Given the description of an element on the screen output the (x, y) to click on. 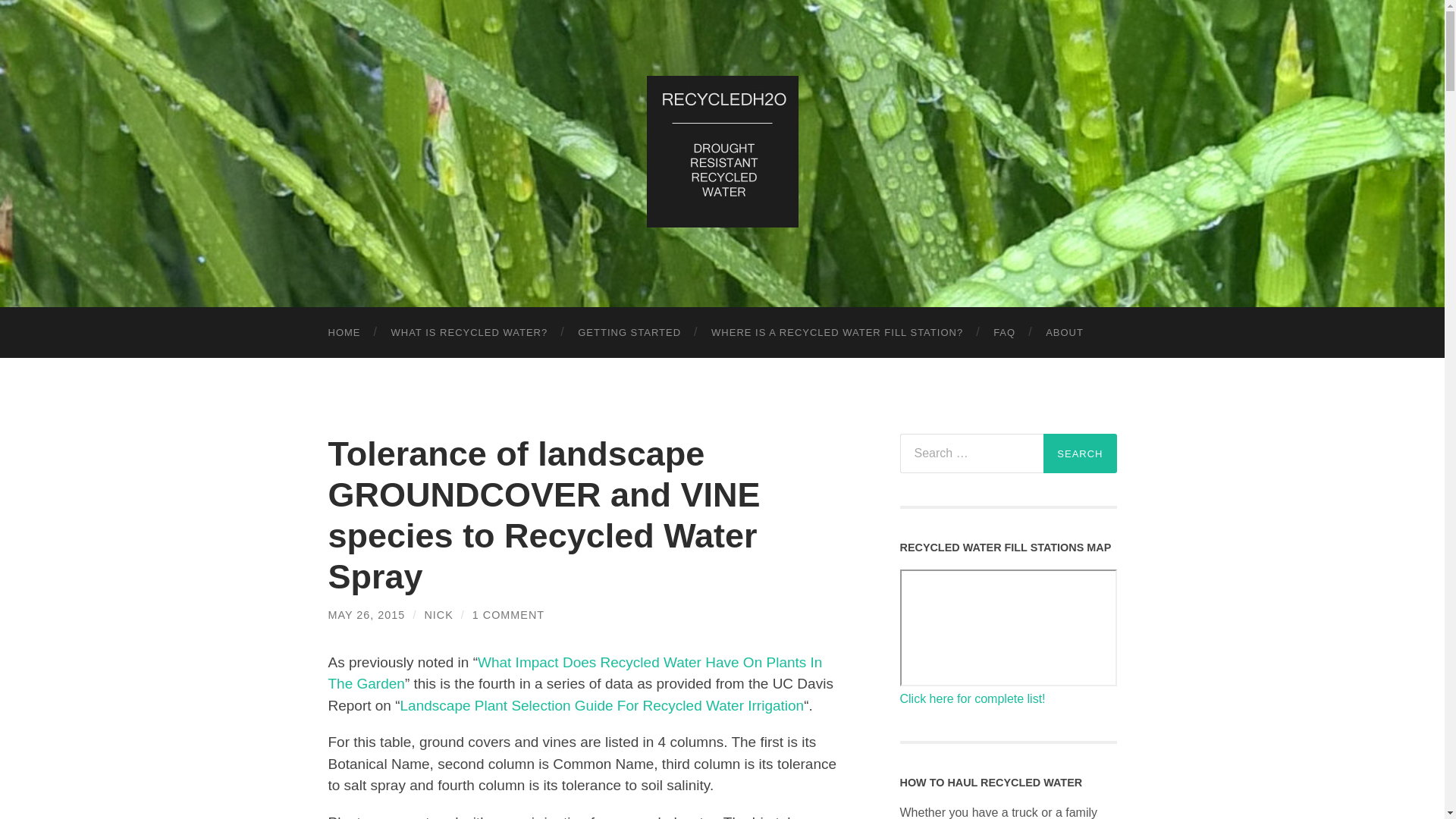
GETTING STARTED (628, 332)
FAQ (1004, 332)
WHAT IS RECYCLED WATER? (469, 332)
NICK (437, 614)
Search (1079, 453)
1 COMMENT (507, 614)
What Impact Does Recycled Water Have On Plants In The Garden (574, 673)
RecycledH2O (721, 151)
WHERE IS A RECYCLED WATER FILL STATION? (836, 332)
MAY 26, 2015 (365, 614)
Recycled Water Fill Station FAQ (1004, 332)
Search (1079, 453)
ABOUT (1064, 332)
HOME (344, 332)
